Given the description of an element on the screen output the (x, y) to click on. 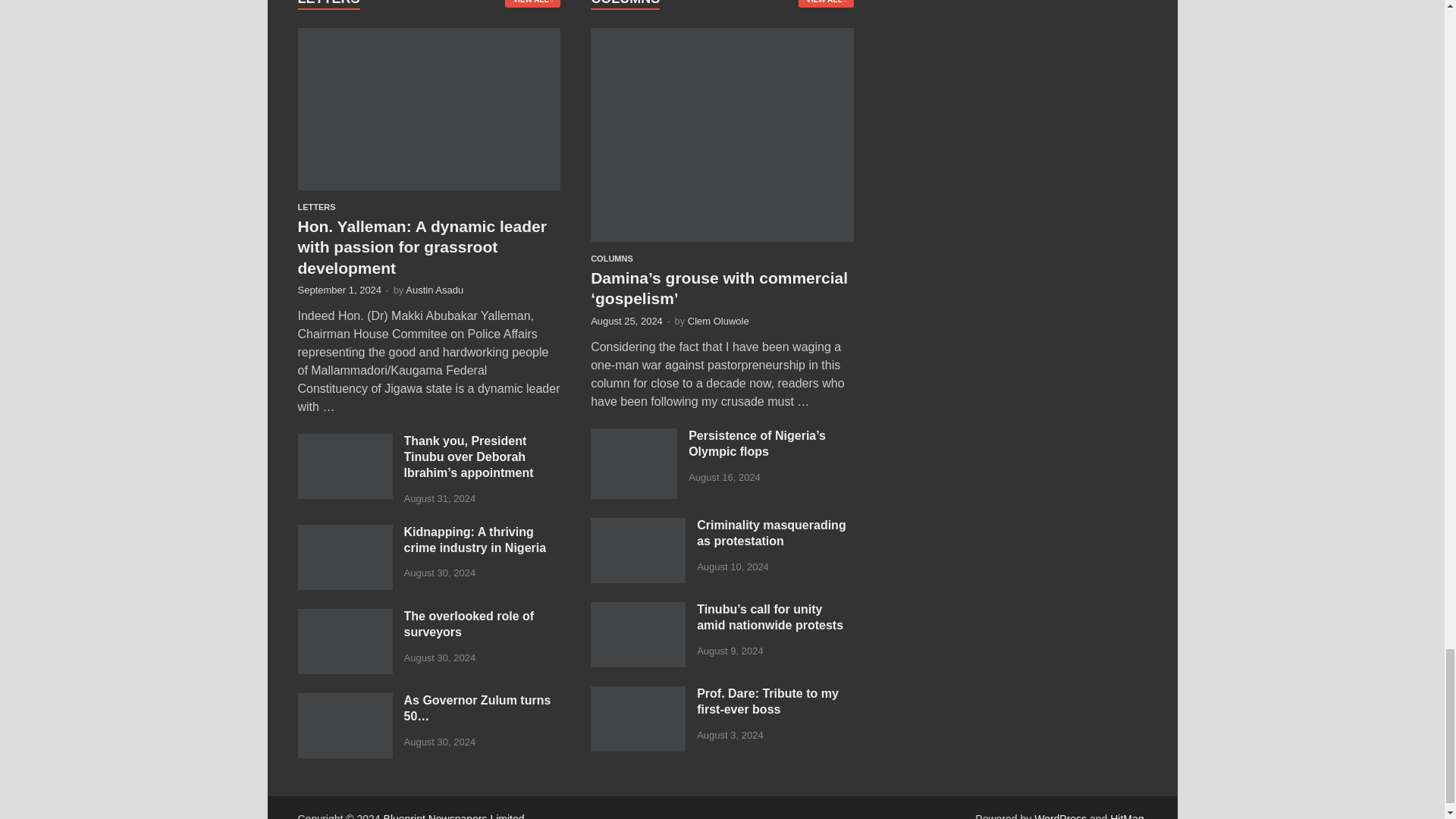
Kidnapping: A thriving crime industry in Nigeria (344, 533)
The overlooked role of surveyors (344, 617)
